Given the description of an element on the screen output the (x, y) to click on. 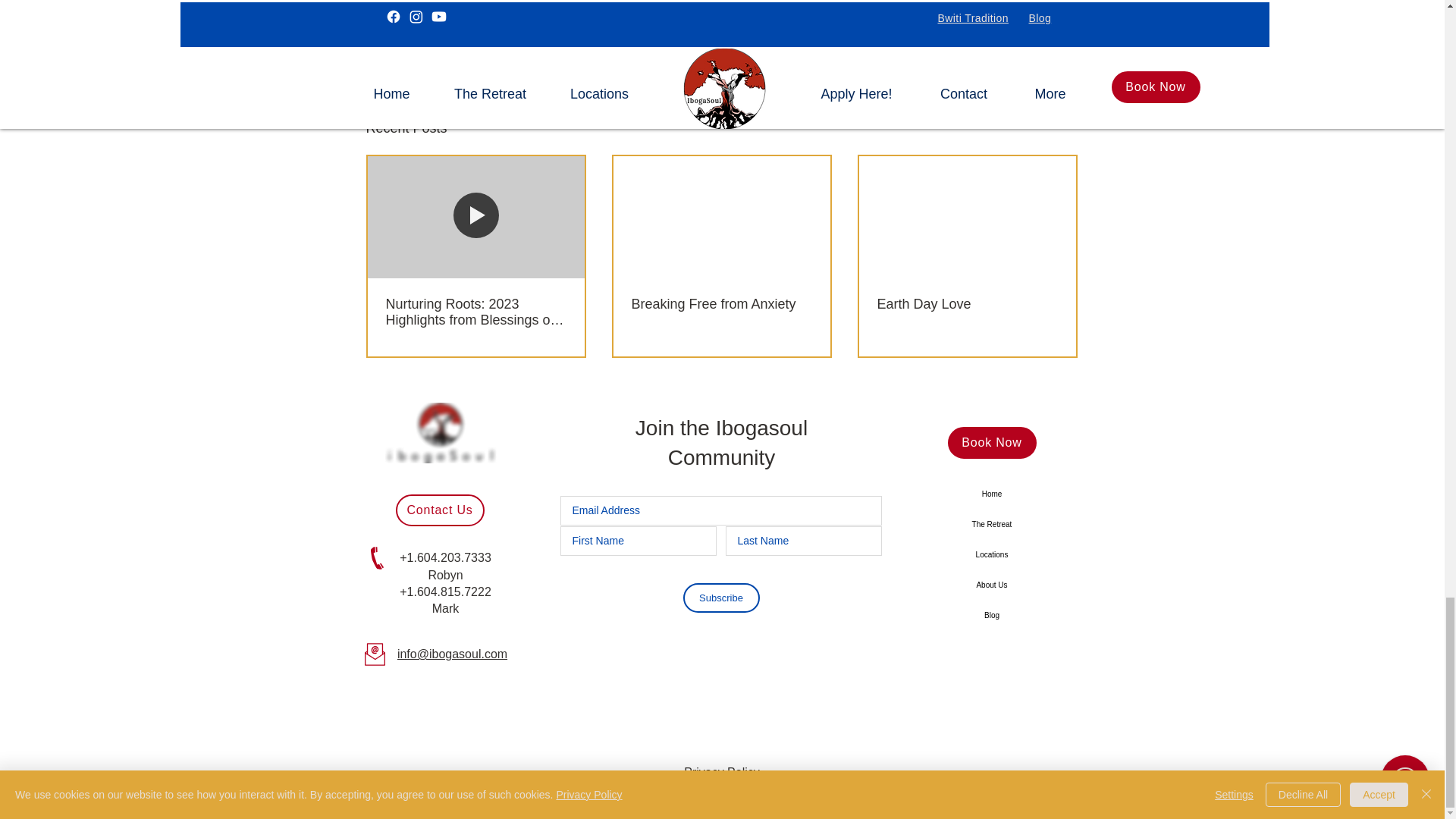
Breaking Free from Anxiety (720, 304)
Earth Day Love (966, 304)
